Given the description of an element on the screen output the (x, y) to click on. 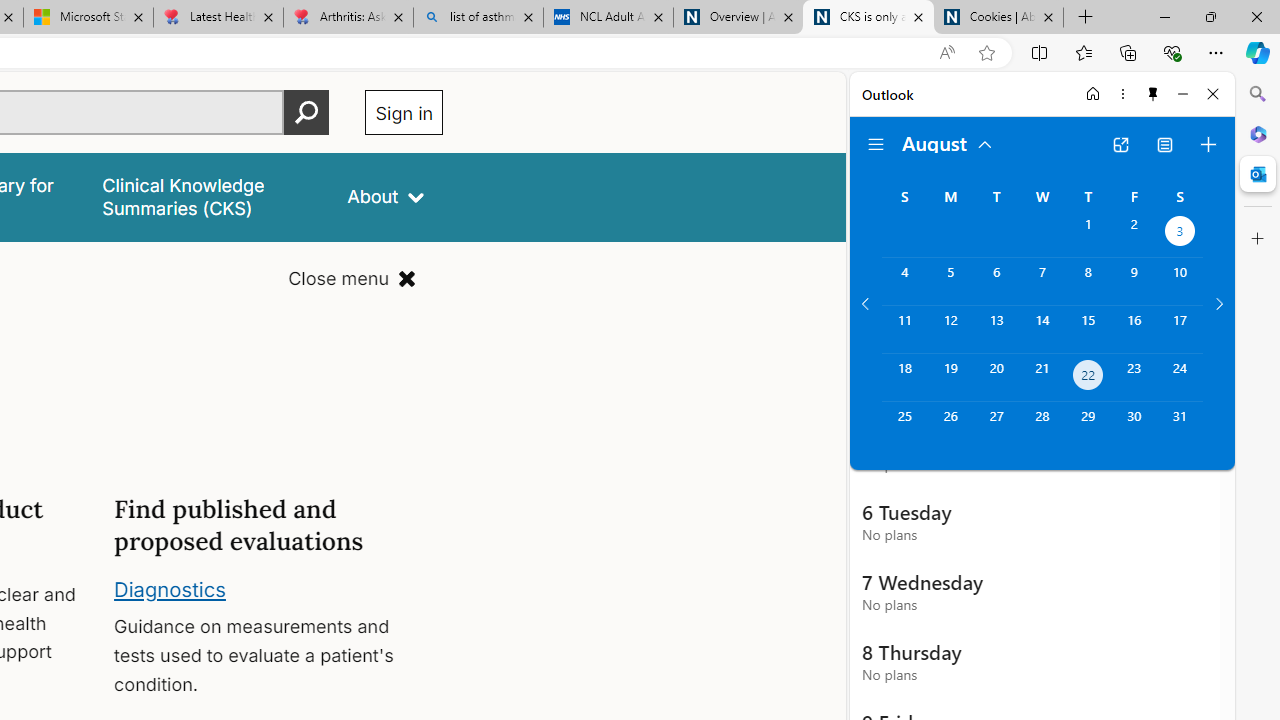
Perform search (307, 112)
Saturday, August 10, 2024.  (1180, 281)
Thursday, August 22, 2024. Today.  (1088, 377)
Monday, August 19, 2024.  (950, 377)
Tuesday, August 20, 2024.  (996, 377)
Diagnostics (169, 588)
Thursday, August 8, 2024.  (1088, 281)
